Given the description of an element on the screen output the (x, y) to click on. 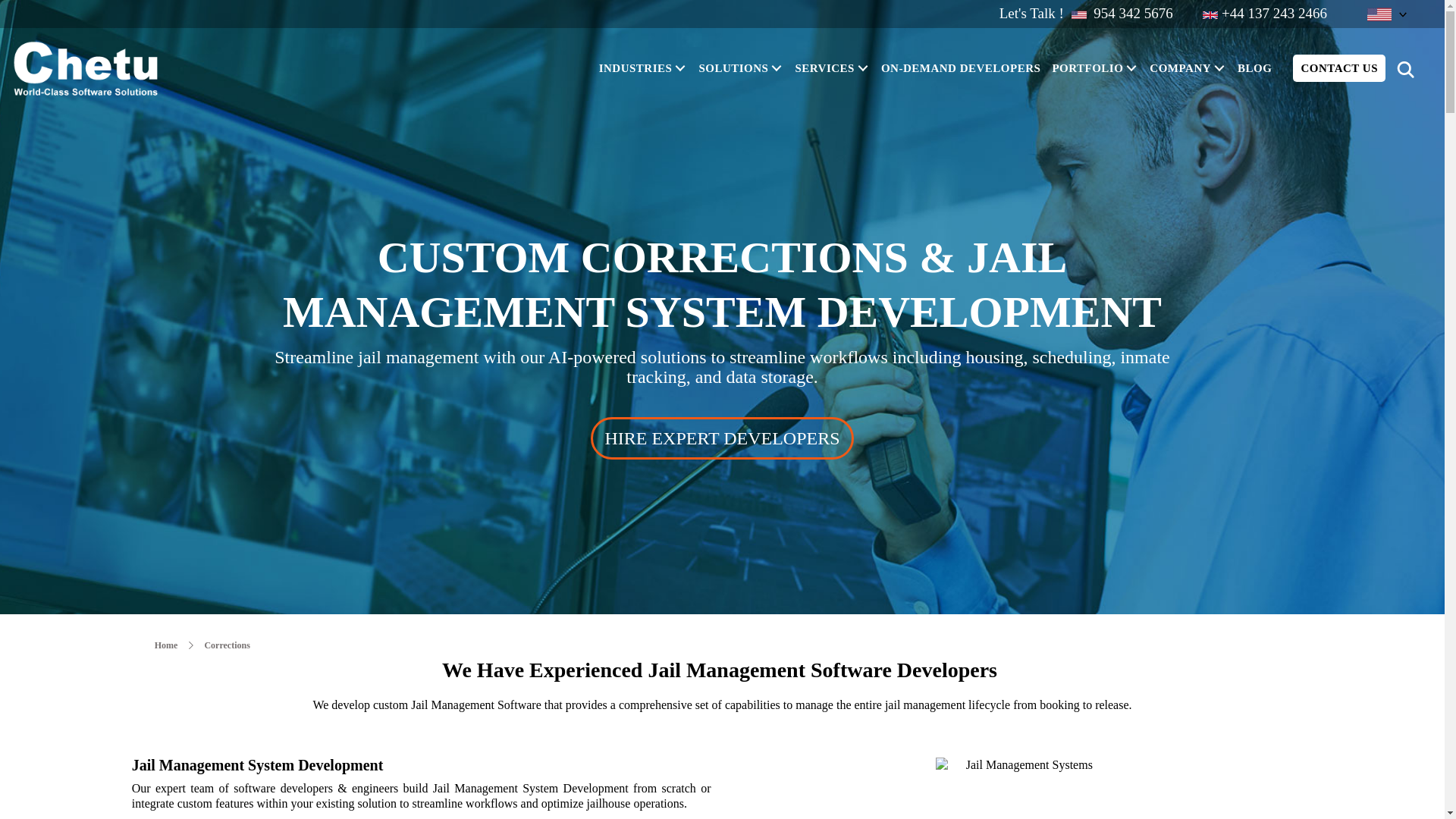
INDUSTRIES (644, 67)
SOLUTIONS (742, 67)
 954 342 5676 (1131, 13)
